Given the description of an element on the screen output the (x, y) to click on. 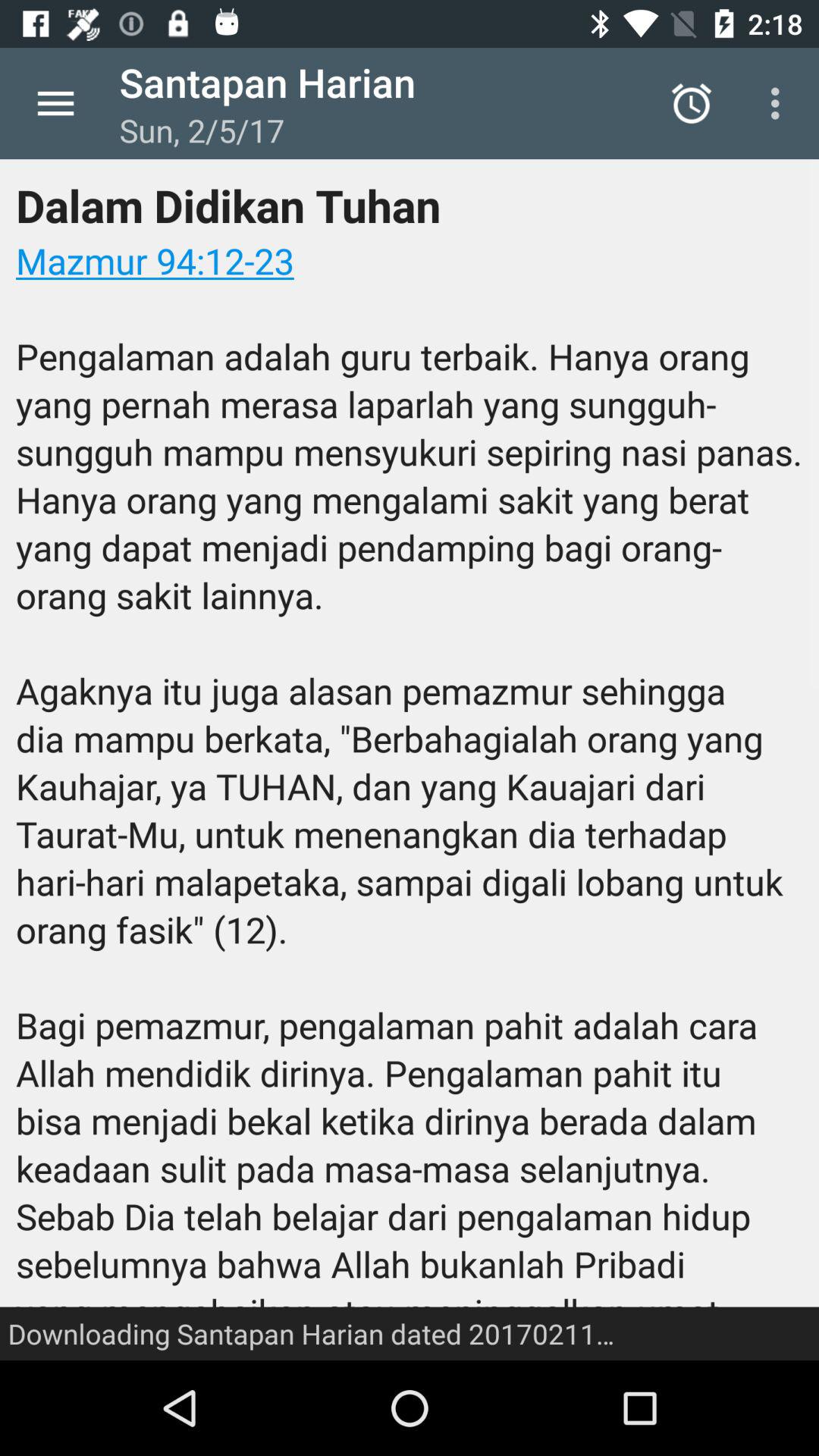
launch the item above dalam didikan tuhan item (55, 103)
